Given the description of an element on the screen output the (x, y) to click on. 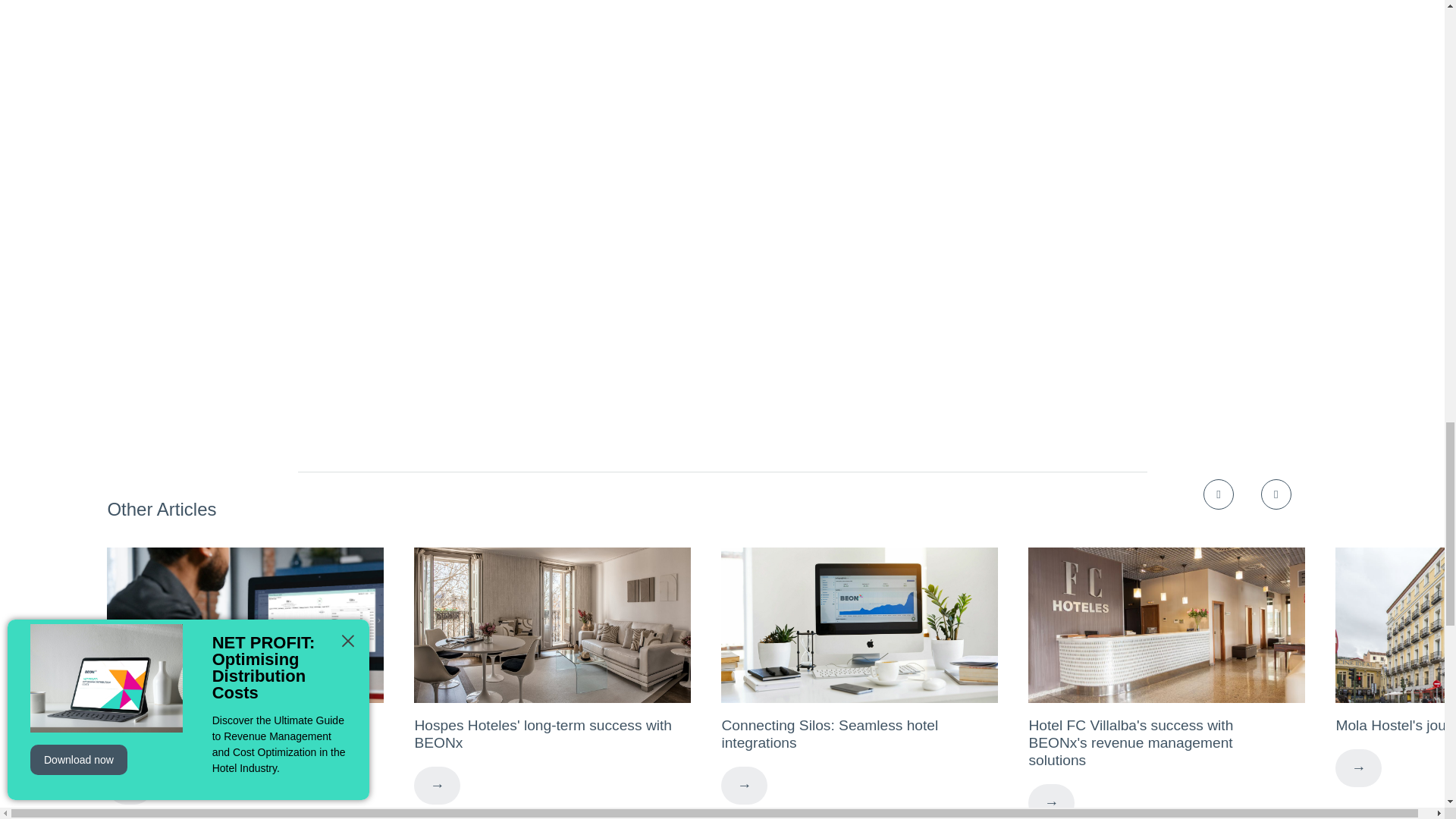
previous item (1218, 494)
next item (1275, 494)
